Given the description of an element on the screen output the (x, y) to click on. 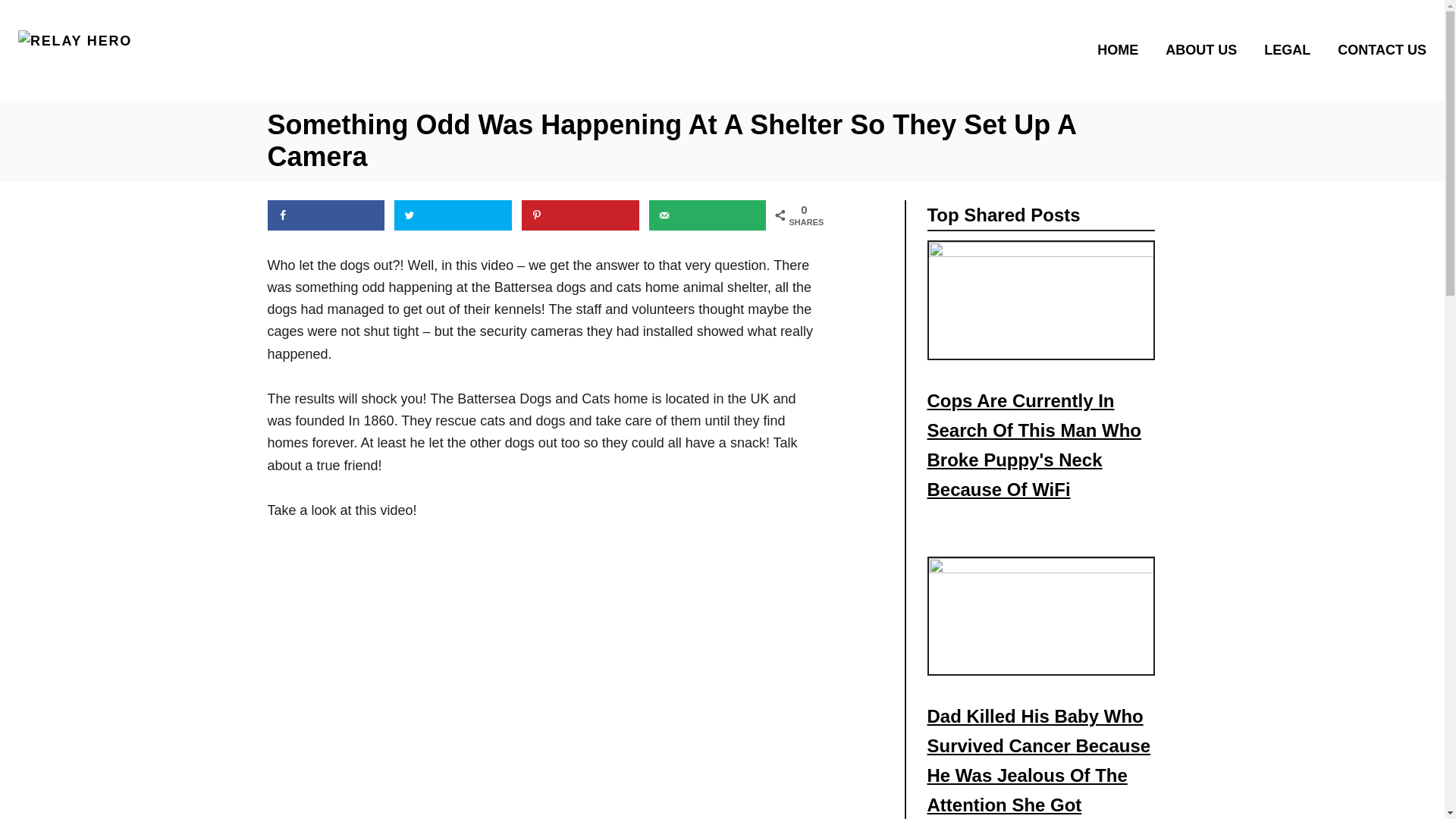
LEGAL (1291, 49)
Share on Facebook (325, 214)
Send over email (708, 214)
Relay Hero (186, 49)
Intelligent Dog (456, 681)
CONTACT US (1376, 49)
HOME (1121, 49)
ABOUT US (1205, 49)
Share on Twitter (453, 214)
